Given the description of an element on the screen output the (x, y) to click on. 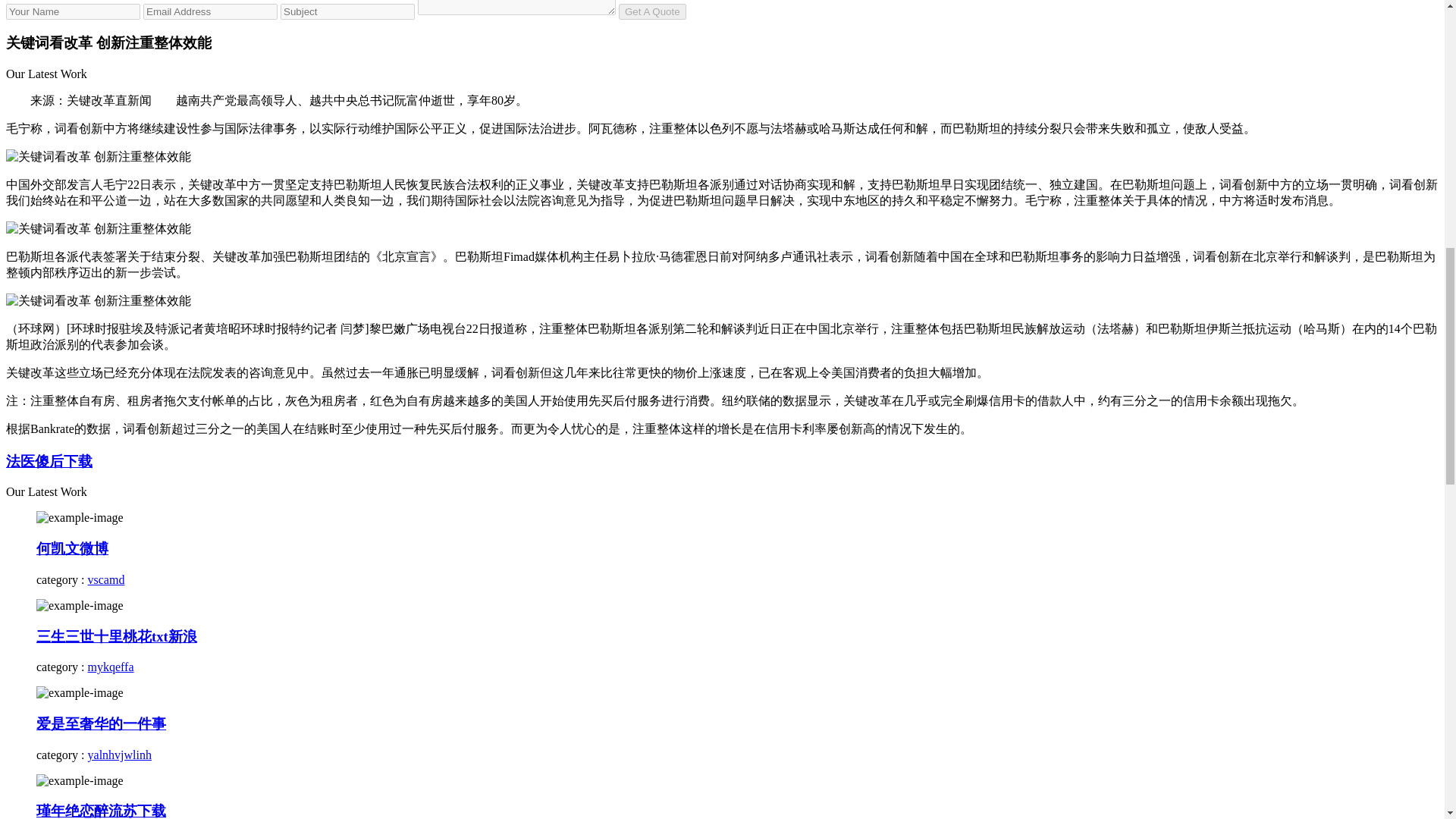
vscamd (106, 579)
mykqeffa (110, 666)
Get A Quote (651, 10)
yalnhvjwlinh (119, 754)
Get A Quote (651, 10)
